Given the description of an element on the screen output the (x, y) to click on. 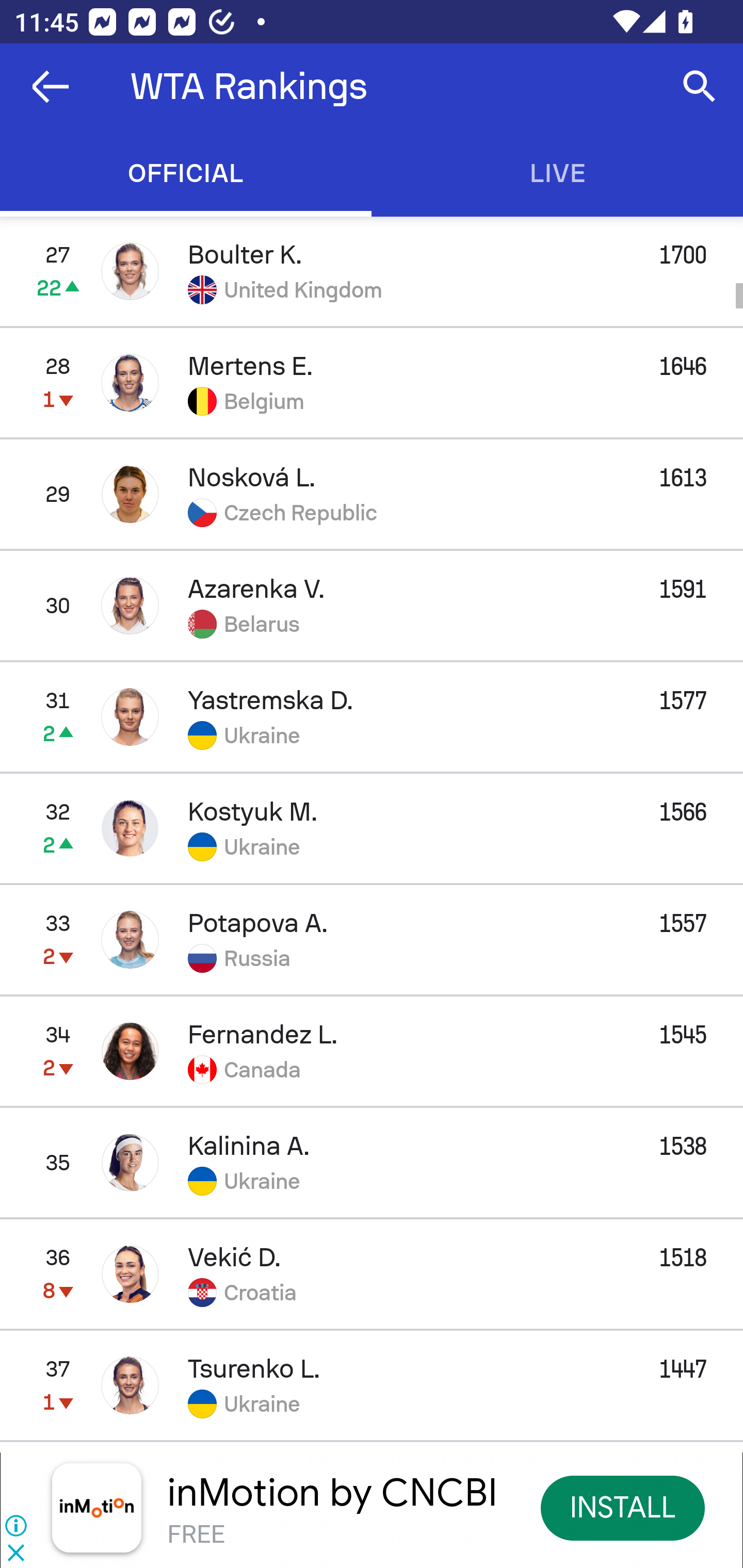
Navigate up (50, 86)
Search (699, 86)
Live LIVE (557, 173)
27 22 Boulter K. 1700 United Kingdom (371, 271)
28 1 Mertens E. 1646 Belgium (371, 382)
29 Nosková L. 1613 Czech Republic (371, 493)
30 Azarenka V. 1591 Belarus (371, 605)
31 2 Yastremska D. 1577 Ukraine (371, 716)
32 2 Kostyuk M. 1566 Ukraine (371, 827)
33 2 Potapova A. 1557 Russia (371, 939)
34 2 Fernandez L. 1545 Canada (371, 1051)
35 Kalinina A. 1538 Ukraine (371, 1162)
36 8 Vekić D. 1518 Croatia (371, 1273)
37 1 Tsurenko L. 1447 Ukraine (371, 1385)
inMotion by CNCBI (332, 1493)
INSTALL (623, 1507)
FREE (195, 1533)
